Given the description of an element on the screen output the (x, y) to click on. 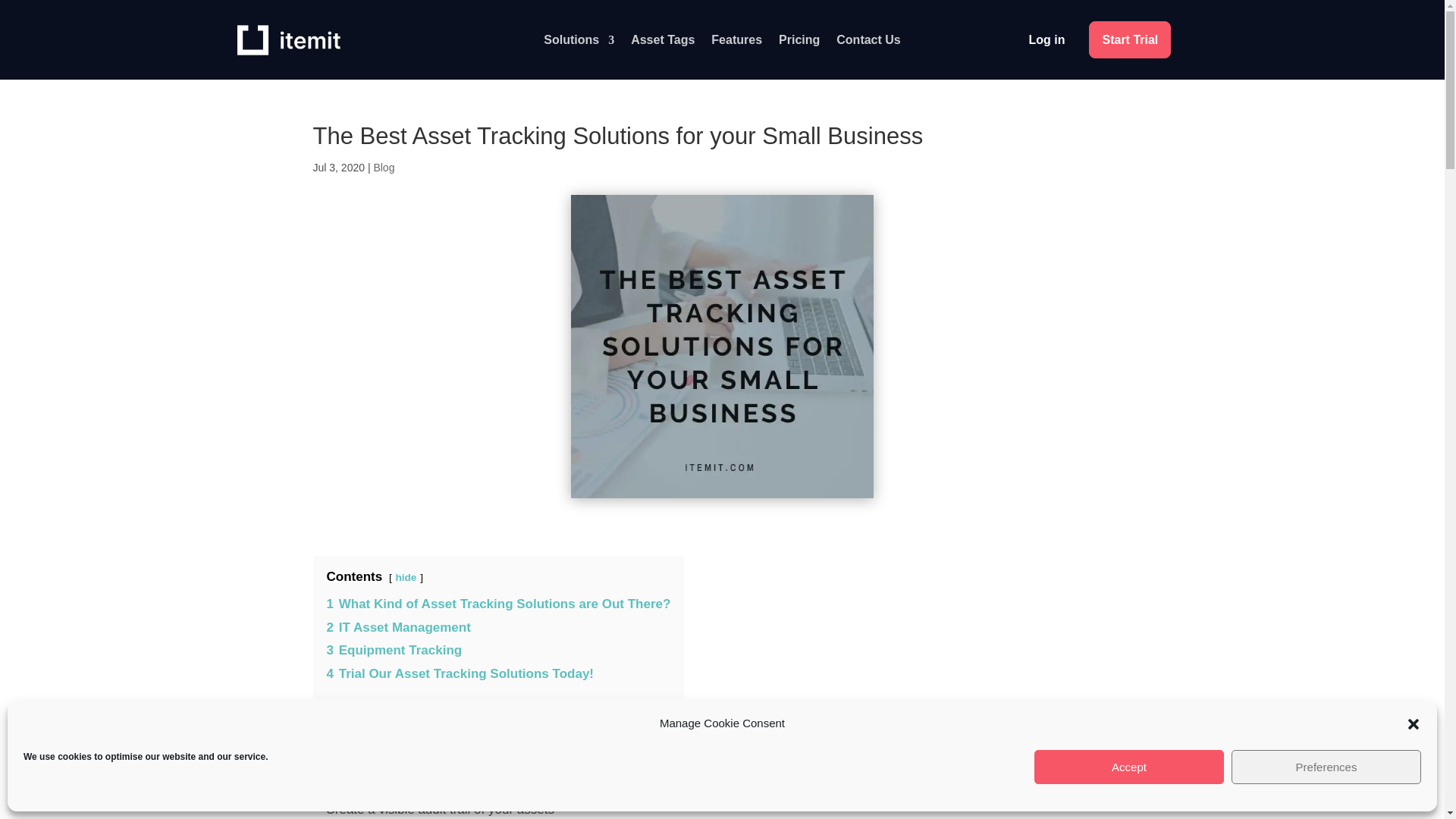
Log in (1046, 39)
Contact Us (867, 43)
Preferences (1326, 766)
The Best Asset Tracking Solutions for your Small Business (722, 345)
Accept (1128, 766)
Features (736, 43)
Asset Tags (662, 43)
itemit-logo-alt (287, 40)
Pricing (798, 43)
Solutions (578, 43)
